Given the description of an element on the screen output the (x, y) to click on. 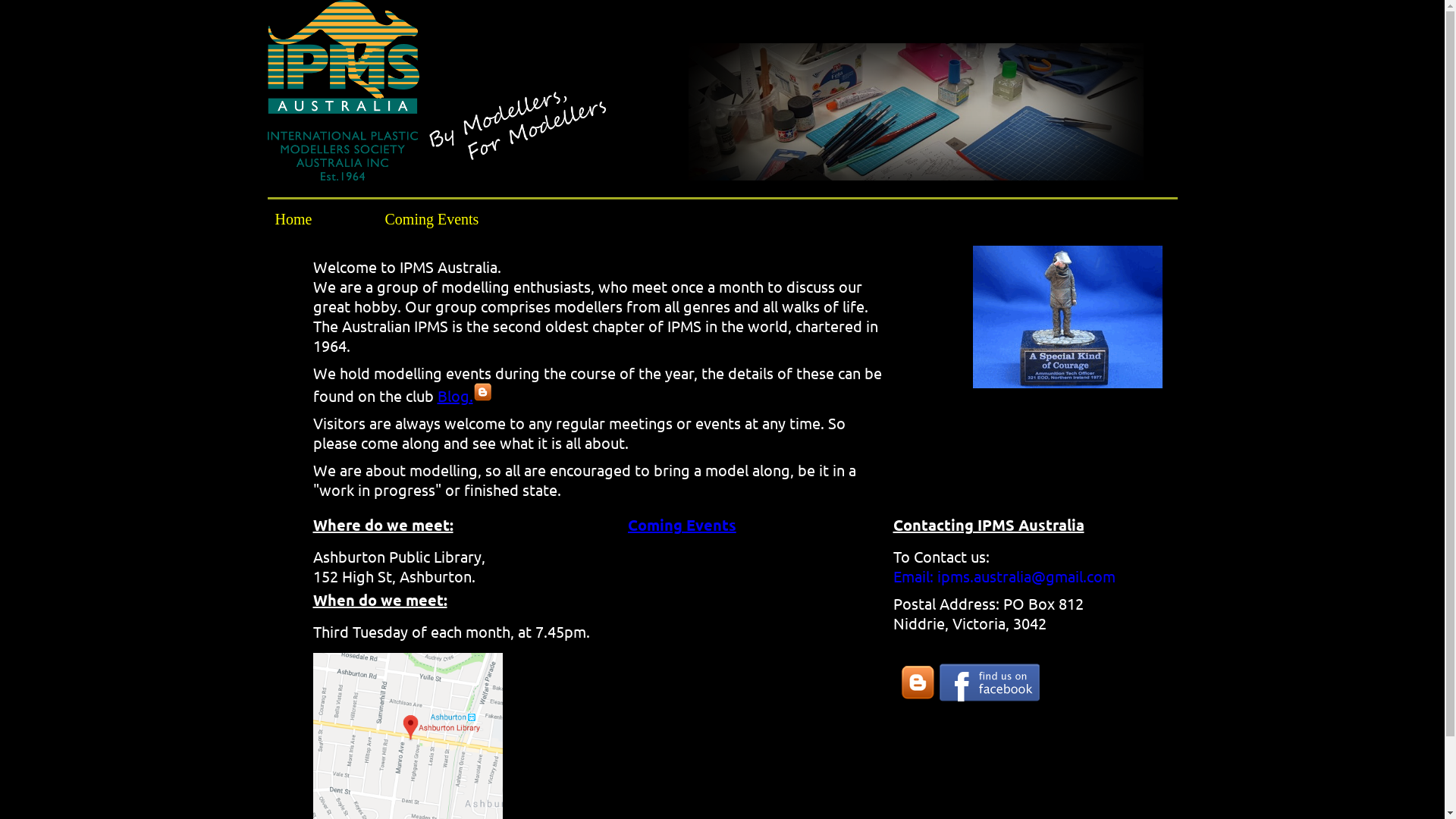
Blog. Element type: text (463, 394)
Coming Events Element type: text (741, 525)
Home Element type: text (321, 218)
Coming Events Element type: text (432, 218)
Email: ipms.australia@gmail.com Element type: text (1004, 575)
find us on Facebook Element type: hover (988, 694)
